Given the description of an element on the screen output the (x, y) to click on. 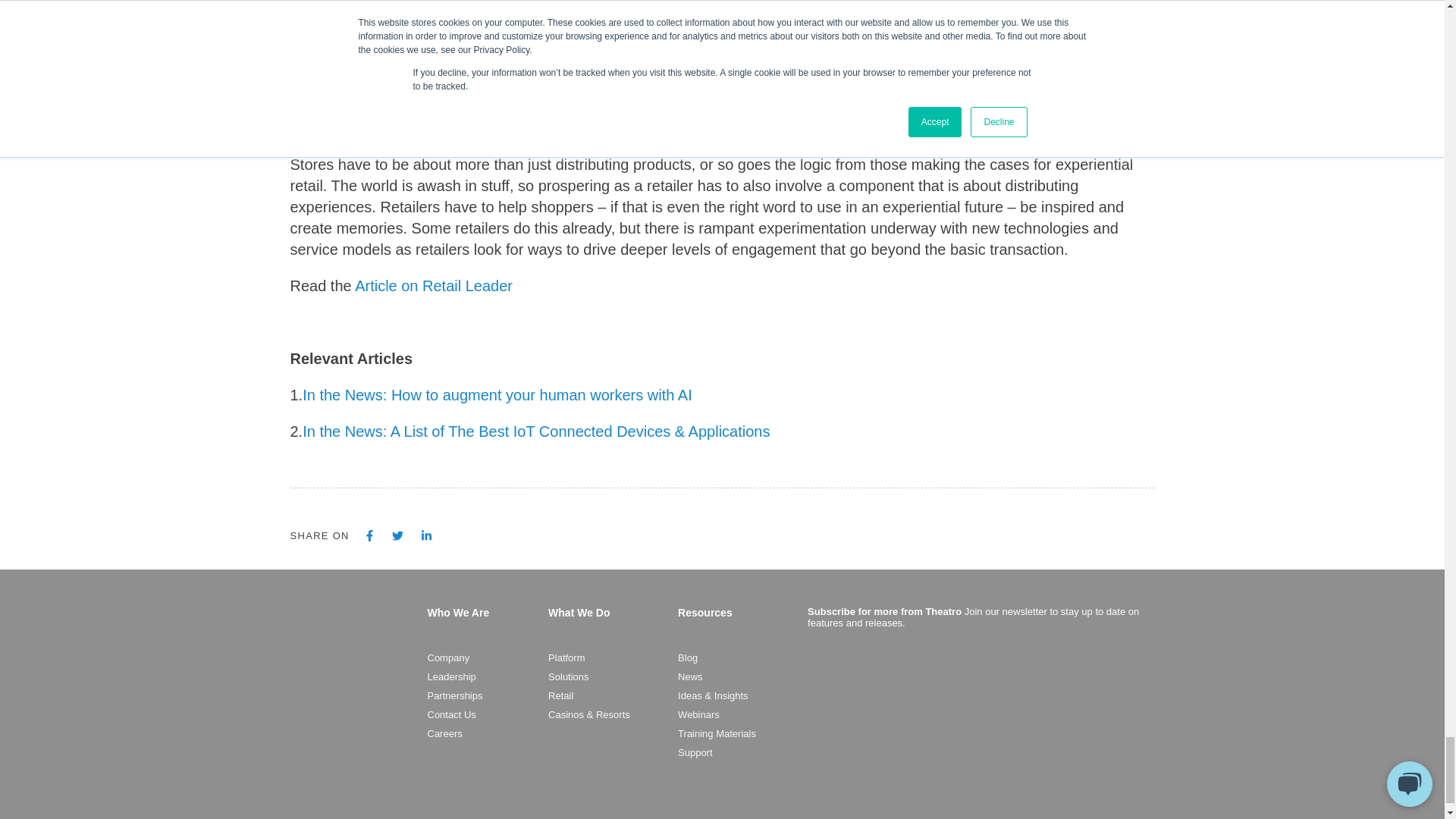
Form 0 (977, 729)
